Given the description of an element on the screen output the (x, y) to click on. 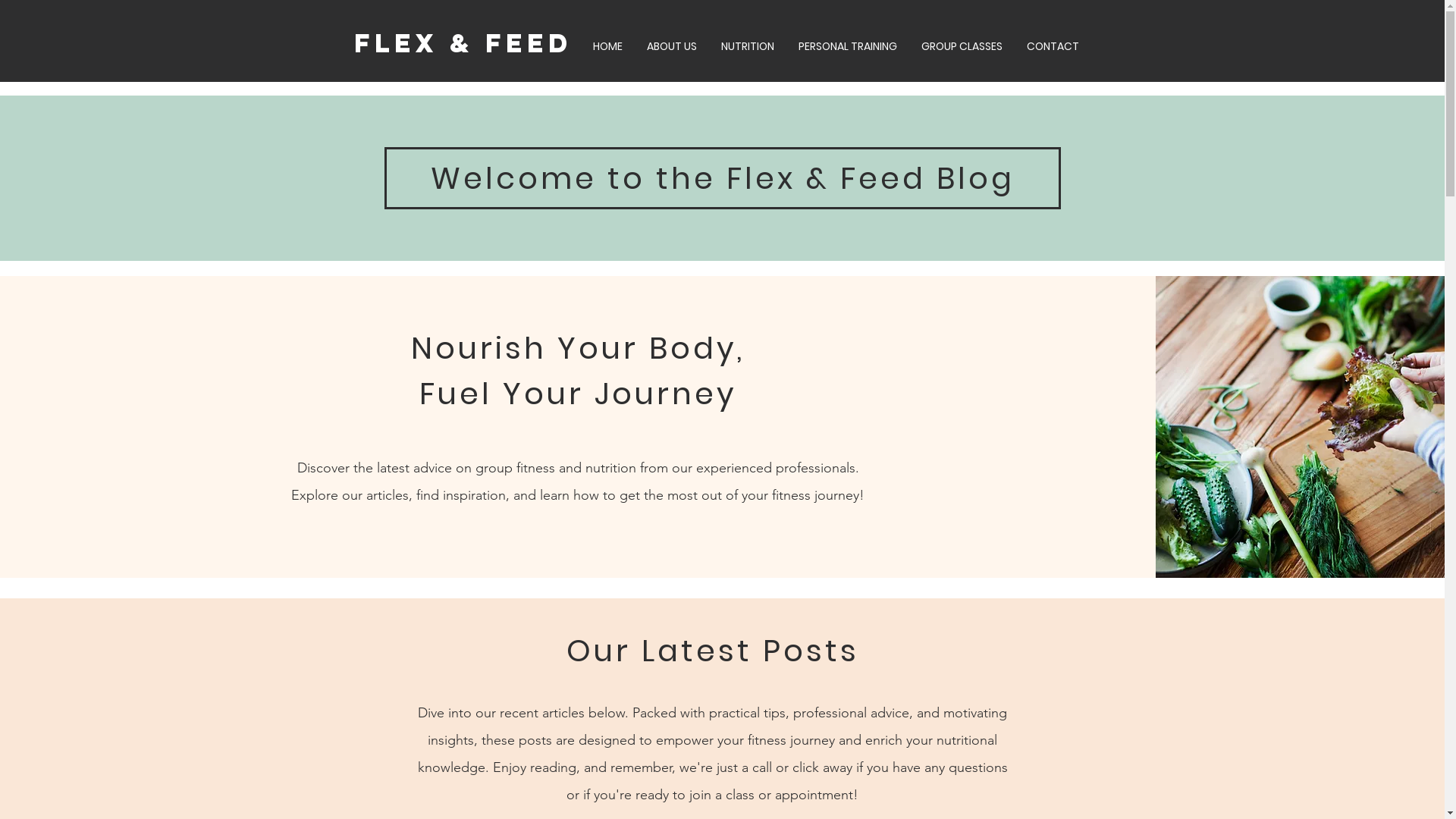
Flex & Feed Element type: text (462, 42)
CONTACT Element type: text (1052, 46)
HOME Element type: text (607, 46)
